Given the description of an element on the screen output the (x, y) to click on. 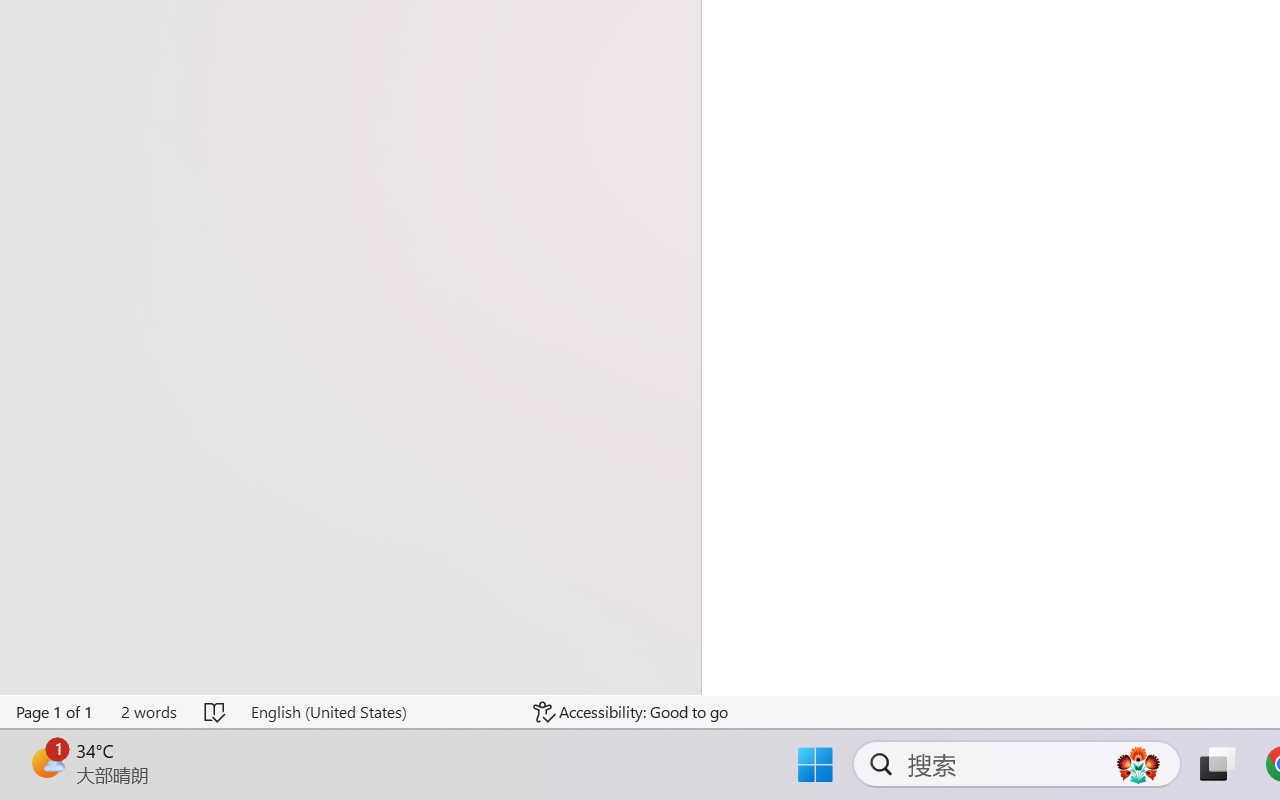
Page Number Page 1 of 1 (55, 712)
